Given the description of an element on the screen output the (x, y) to click on. 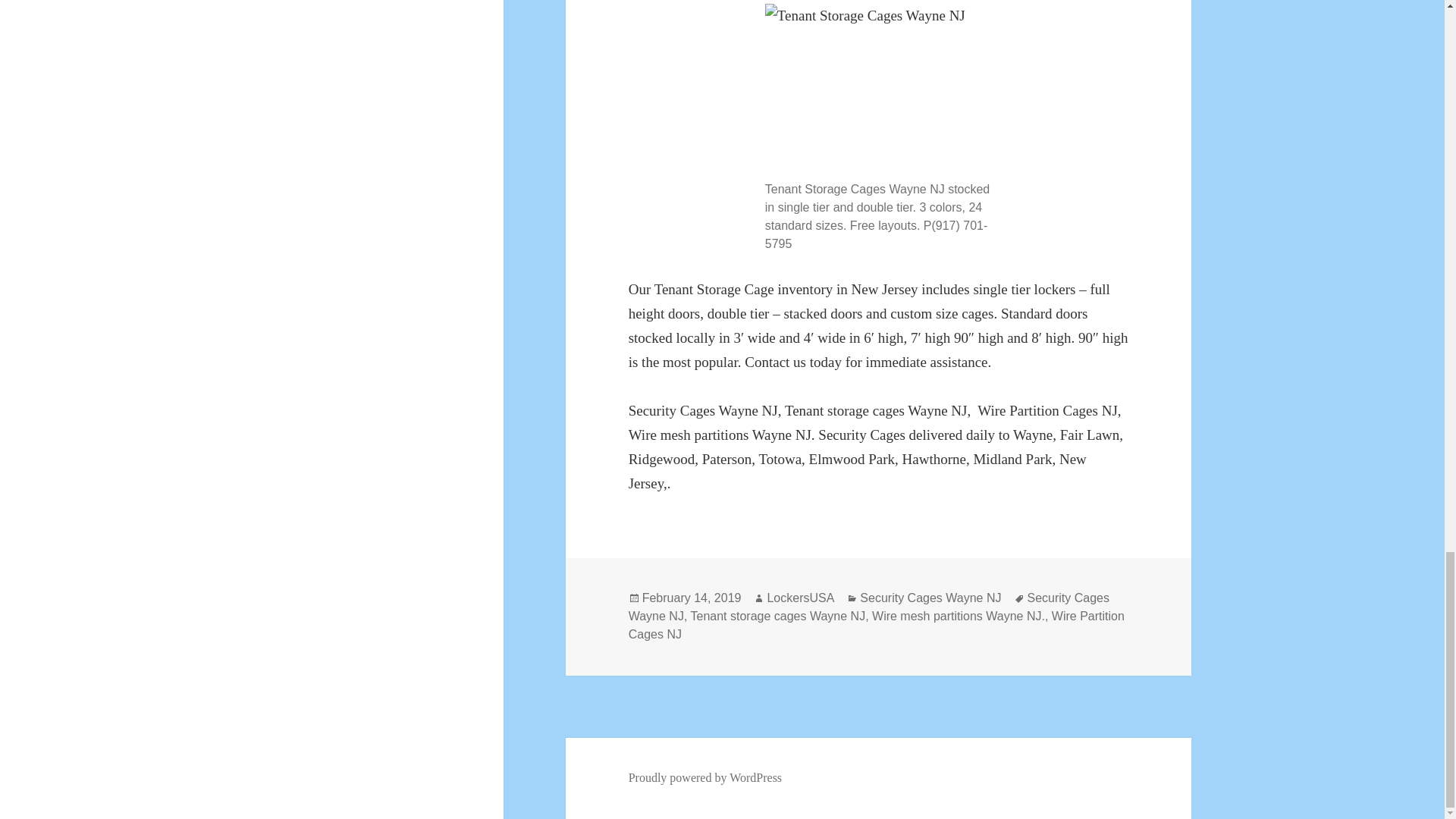
Wire Partition Cages NJ (876, 625)
Tenant storage cages Wayne NJ (777, 616)
LockersUSA (800, 598)
February 14, 2019 (691, 598)
Security Cages Wayne NJ (868, 607)
Security Cages Wayne NJ (930, 598)
Proudly powered by WordPress (704, 777)
Wire mesh partitions Wayne NJ. (958, 616)
